Given the description of an element on the screen output the (x, y) to click on. 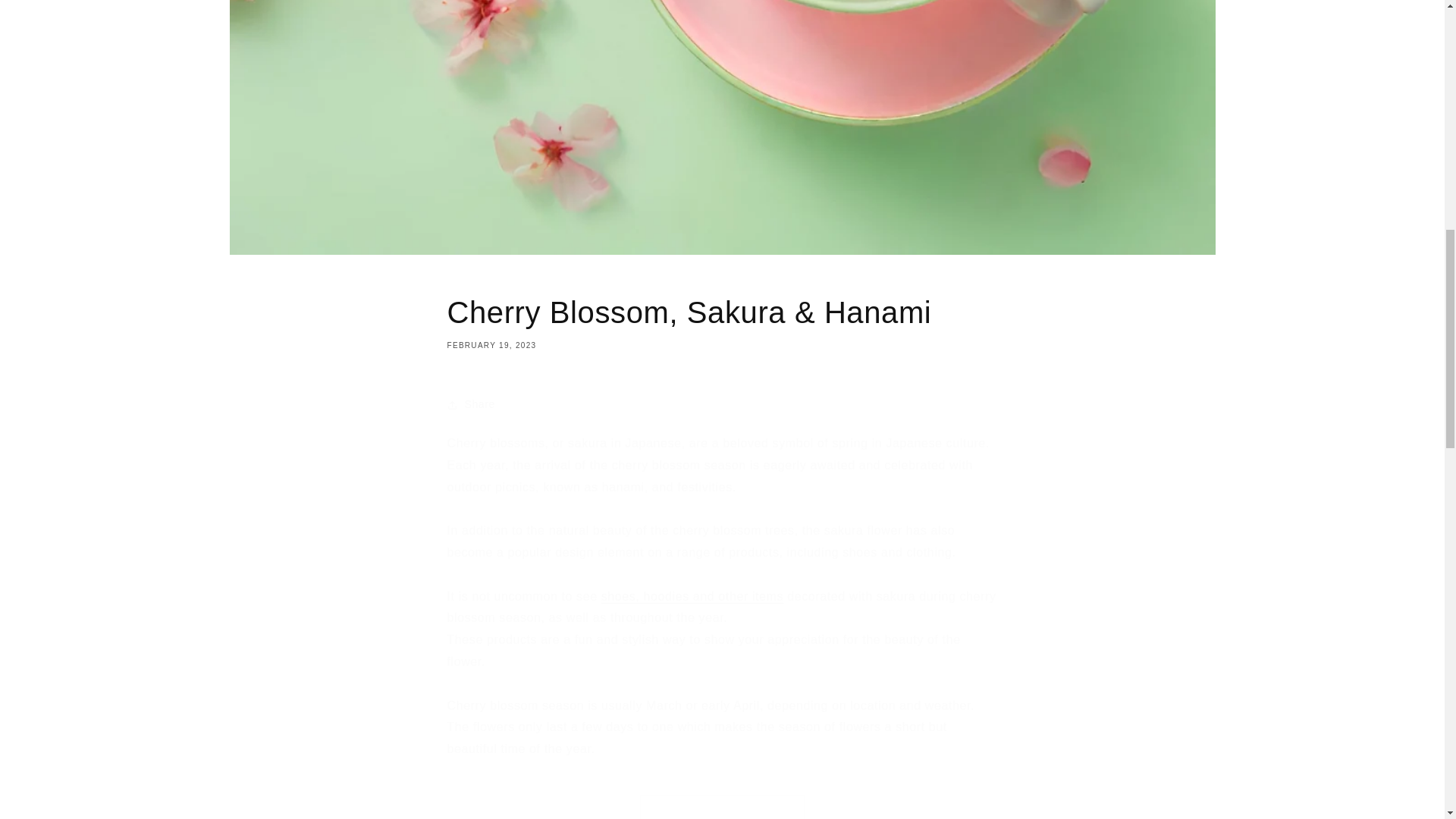
The Sakura Collection (692, 595)
Share (721, 404)
